Given the description of an element on the screen output the (x, y) to click on. 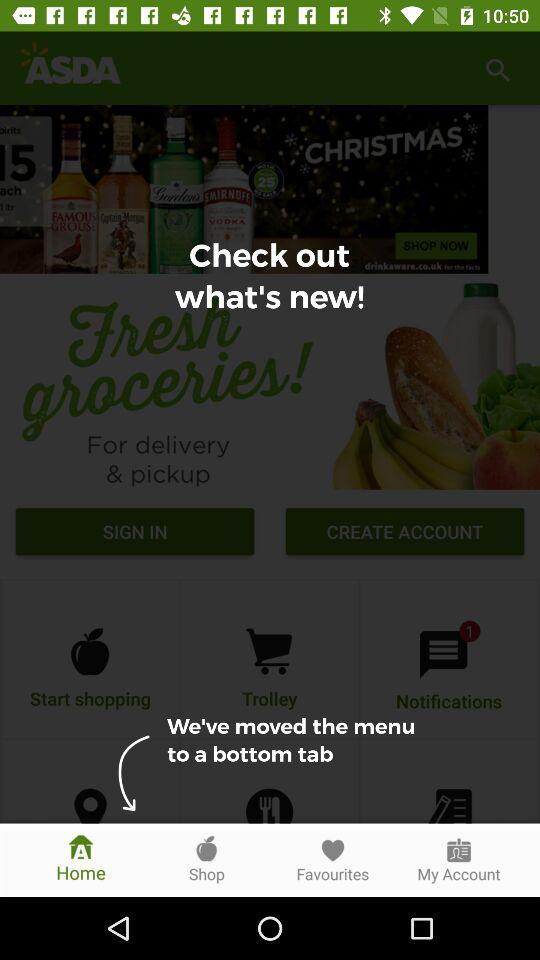
select the icon to the left of the create account (134, 534)
